Given the description of an element on the screen output the (x, y) to click on. 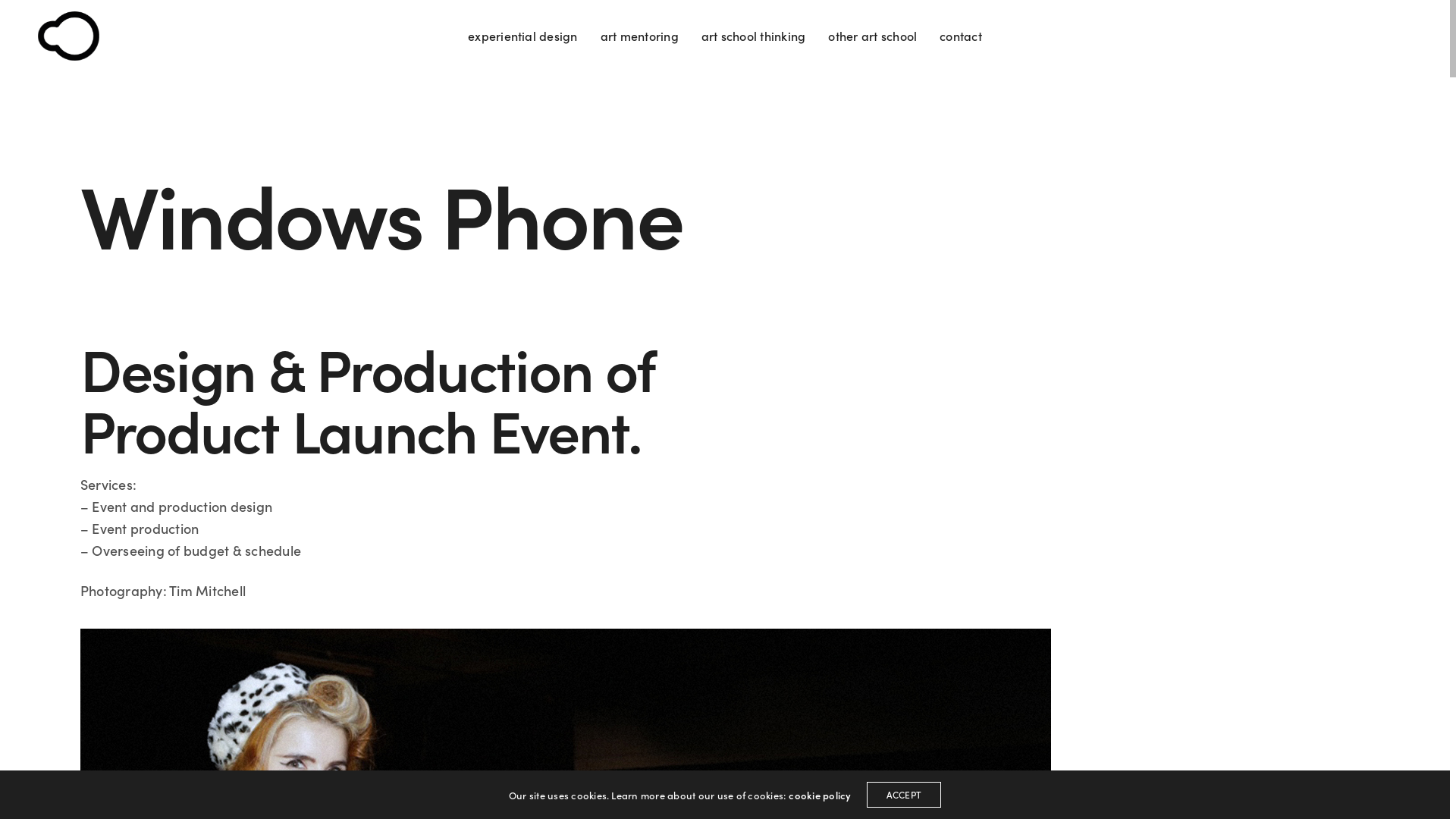
other art school Element type: text (872, 35)
Mr Board Element type: hover (68, 35)
ACCEPT Element type: text (903, 794)
cookie policy Element type: text (819, 794)
art mentoring Element type: text (639, 35)
experiential design Element type: text (522, 35)
contact Element type: text (960, 35)
Search Element type: text (47, 16)
art school thinking Element type: text (753, 35)
